Given the description of an element on the screen output the (x, y) to click on. 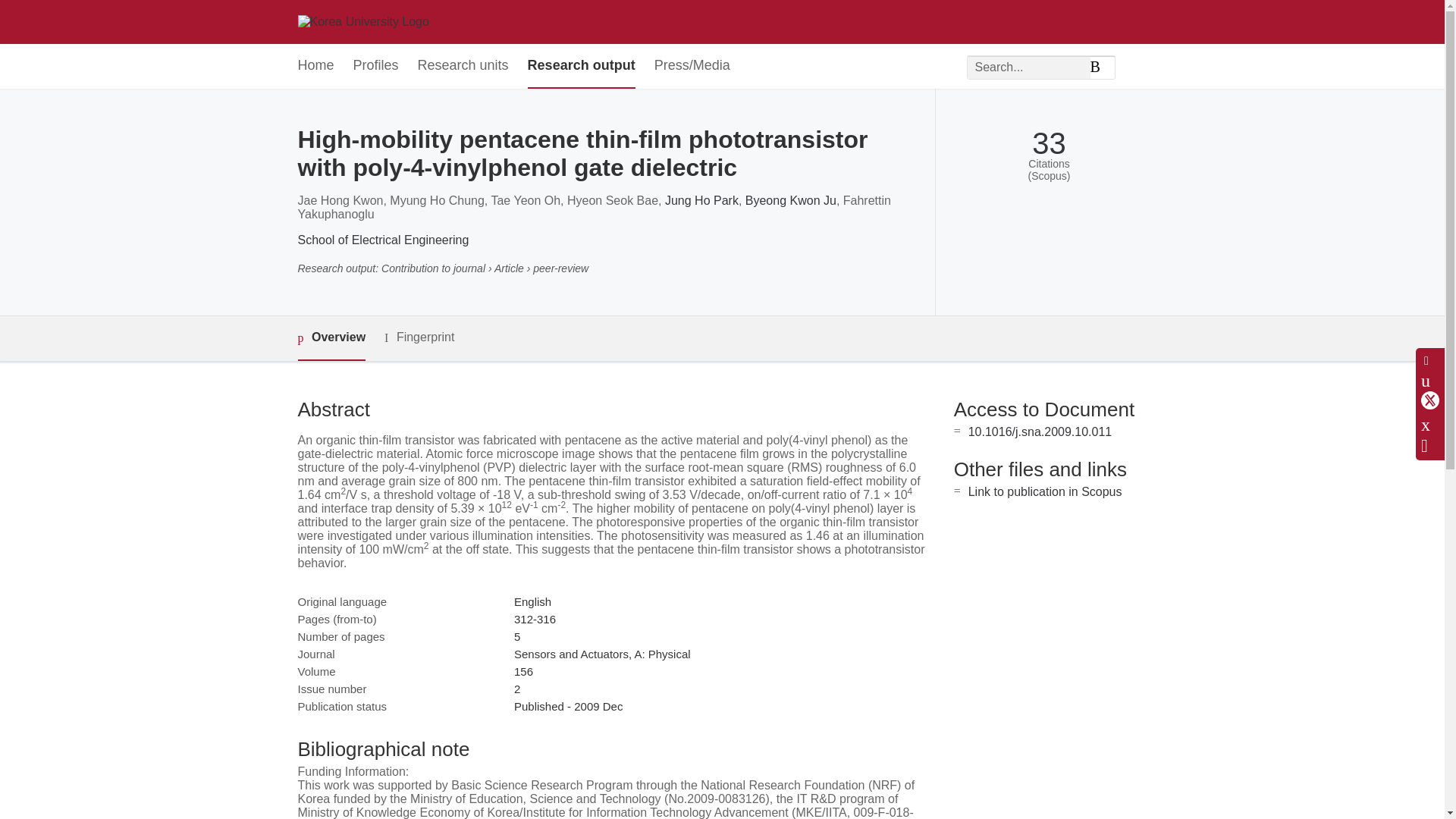
Jung Ho Park (701, 200)
Sensors and Actuators, A: Physical (601, 653)
Research units (462, 66)
Research output (580, 66)
Korea University Home (362, 21)
School of Electrical Engineering (382, 239)
Overview (331, 338)
33 (1048, 143)
Link to publication in Scopus (1045, 491)
